Given the description of an element on the screen output the (x, y) to click on. 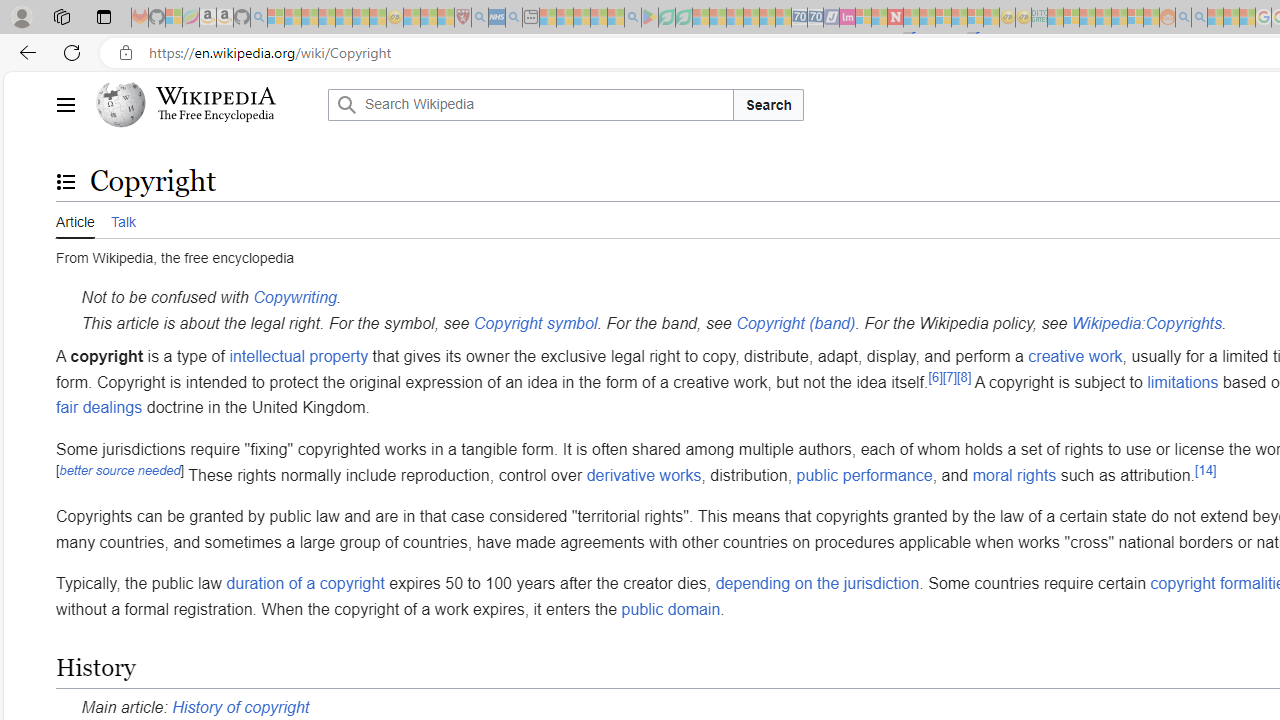
fair dealings (99, 407)
[14] (1205, 470)
Robert H. Shmerling, MD - Harvard Health - Sleeping (462, 17)
Utah sues federal government - Search - Sleeping (1199, 17)
New Report Confirms 2023 Was Record Hot | Watch - Sleeping (343, 17)
duration of a copyright (305, 584)
[7] (949, 376)
Wikipedia:Copyrights (1146, 322)
list of asthma inhalers uk - Search - Sleeping (479, 17)
[8] (963, 376)
MSNBC - MSN - Sleeping (1055, 17)
